Given the description of an element on the screen output the (x, y) to click on. 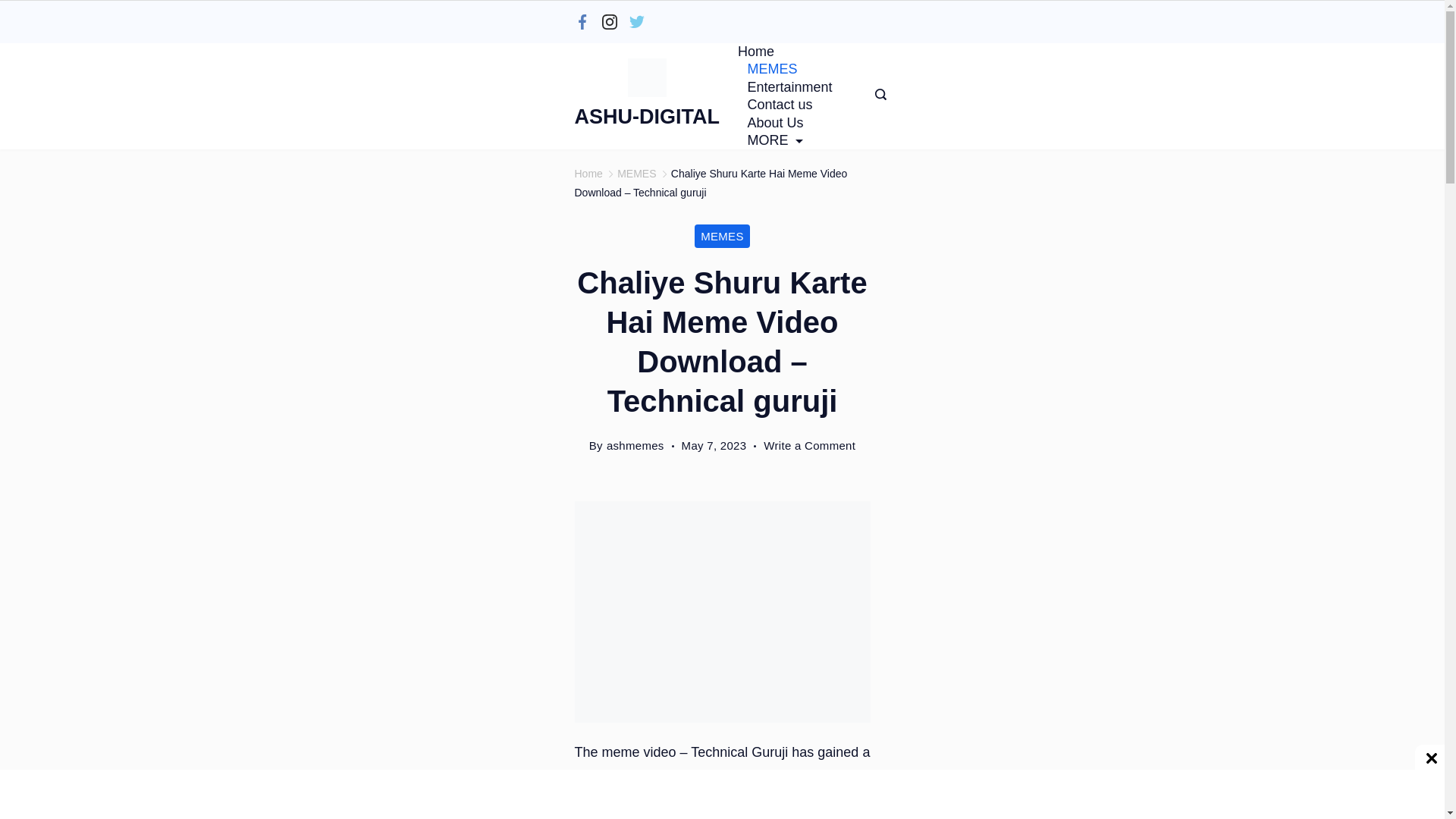
MEMES (772, 68)
ashmemes (635, 445)
Entertainment (789, 87)
About Us (775, 122)
Home (761, 51)
Write a Comment (809, 445)
Technical Guruji (815, 776)
ASHU-DIGITAL (647, 116)
Contact us (780, 104)
MEMES (721, 236)
